Given the description of an element on the screen output the (x, y) to click on. 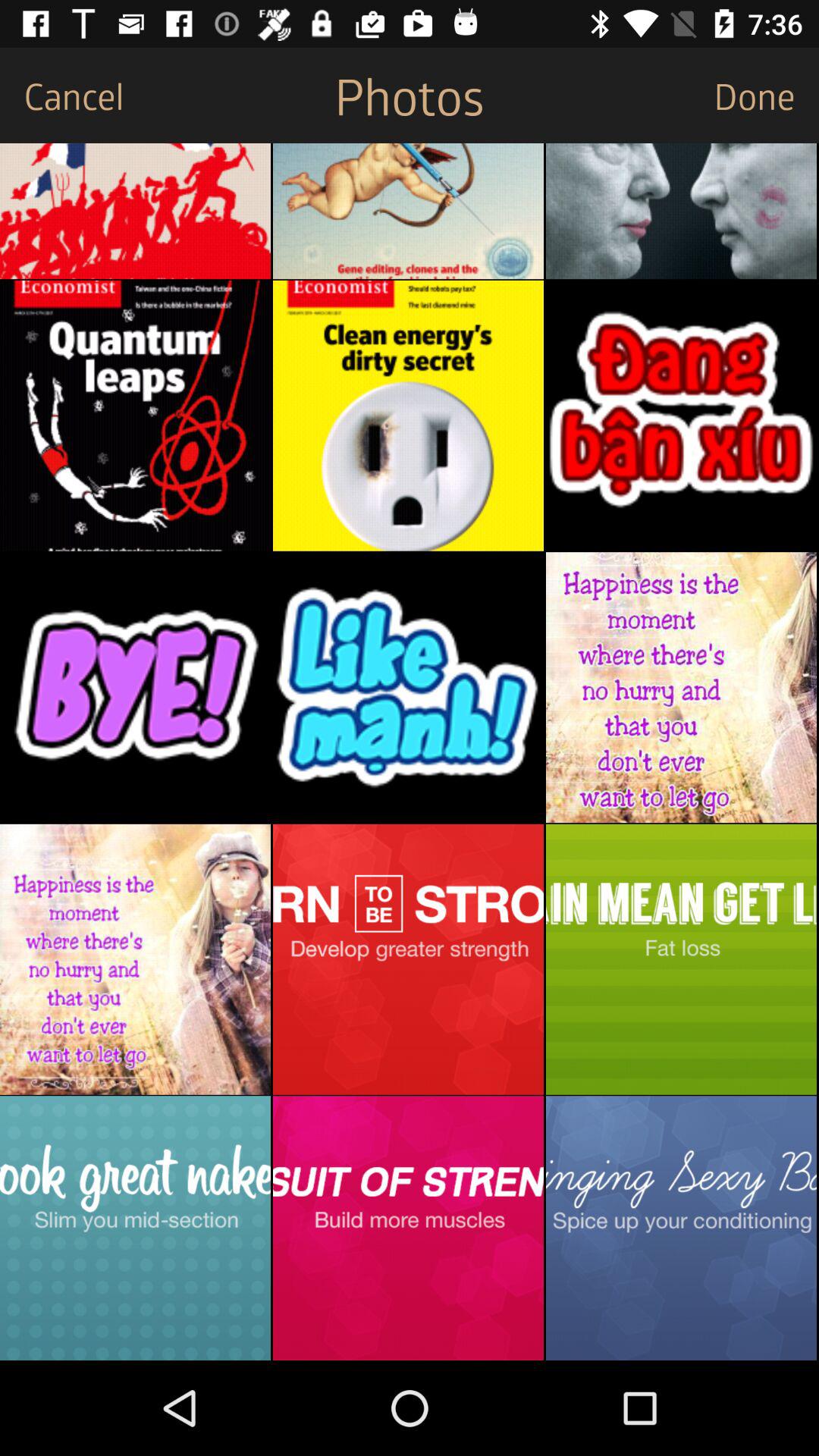
select one picture (408, 1227)
